Given the description of an element on the screen output the (x, y) to click on. 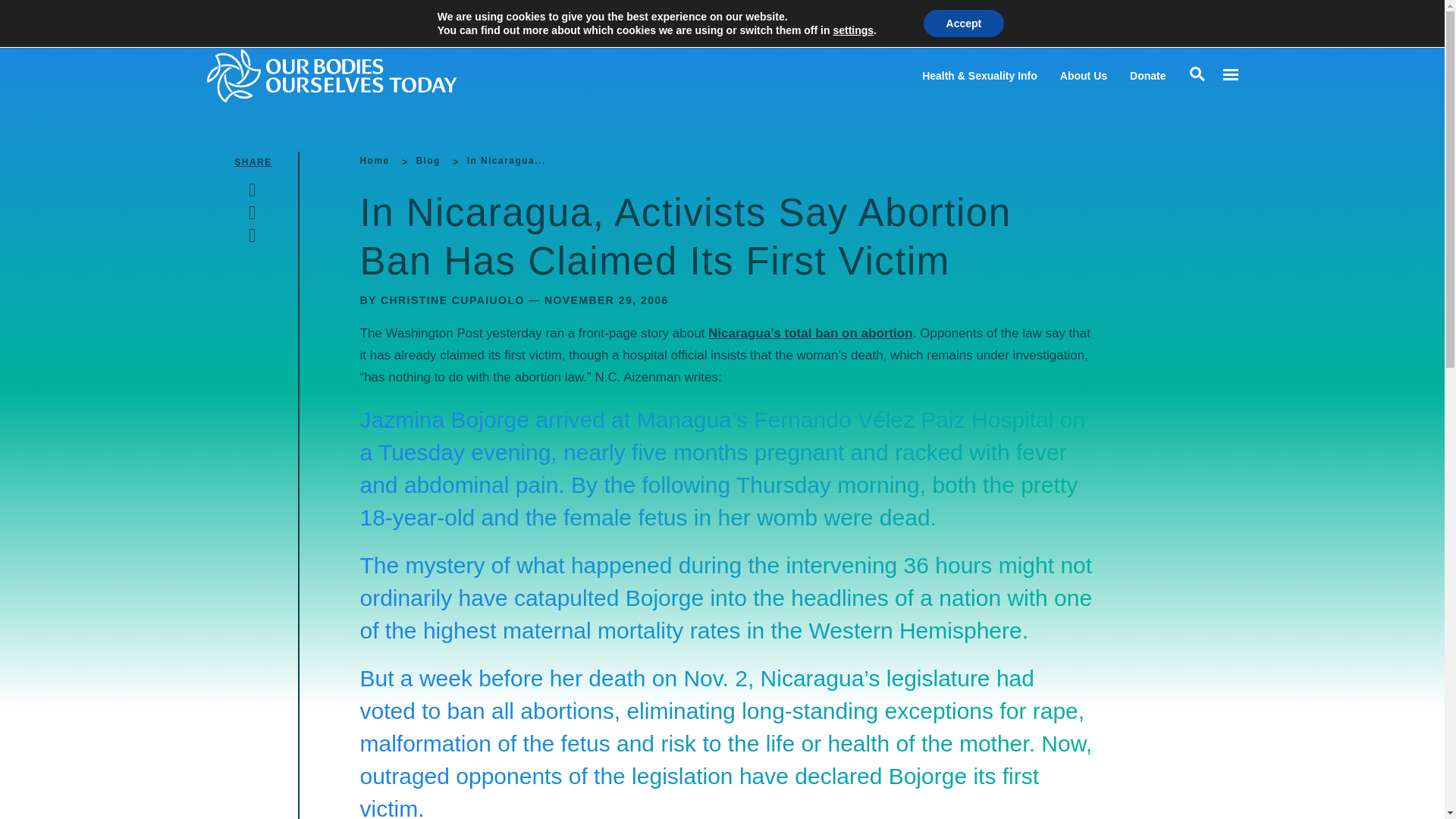
About Us (1083, 75)
Home (373, 160)
Search (15, 15)
Expand navigation (1229, 75)
Donate (1147, 75)
Blog (426, 160)
Our Bodies Ourselves Today (361, 75)
